Given the description of an element on the screen output the (x, y) to click on. 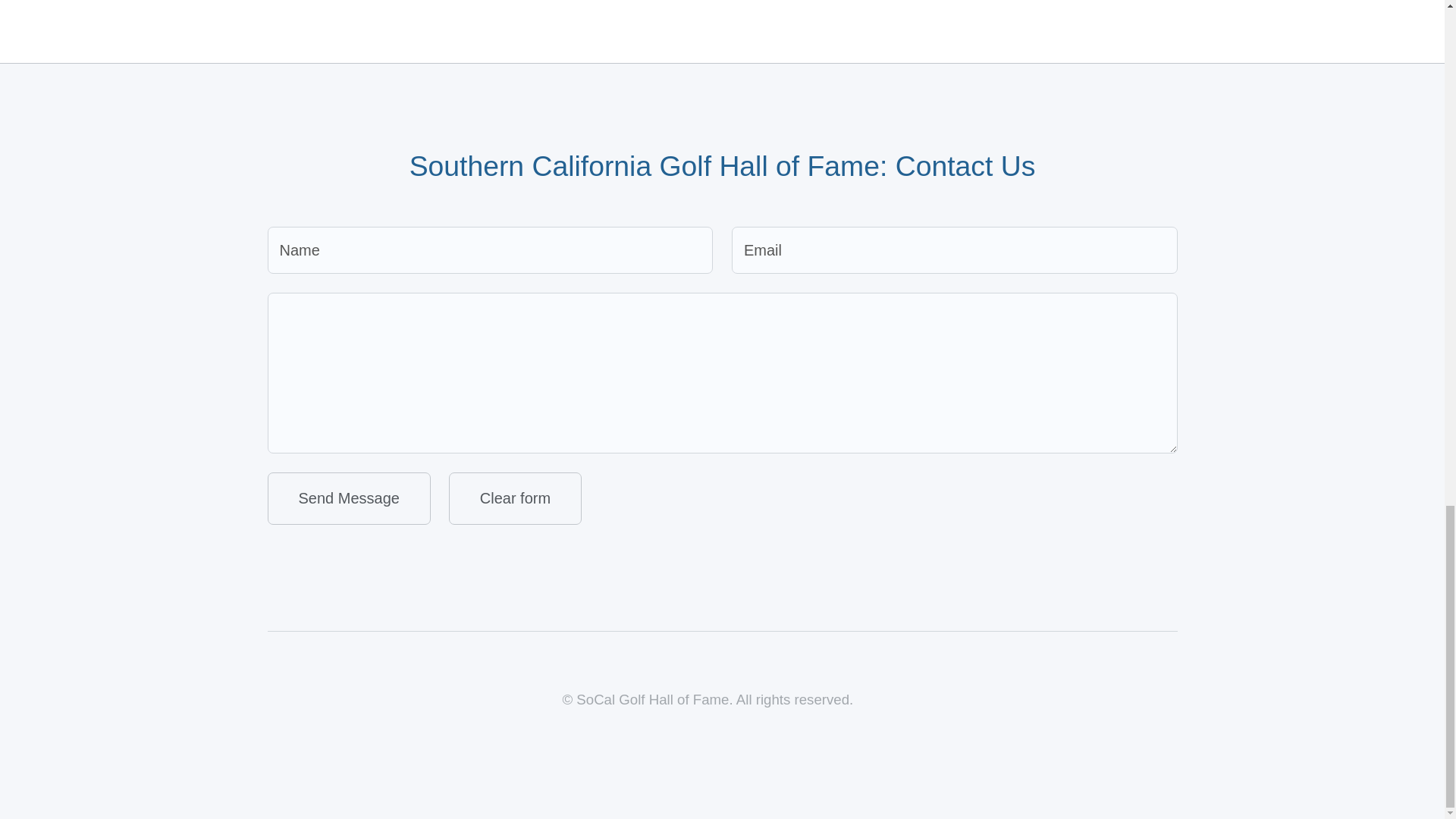
Send Message (347, 498)
Send Message (347, 498)
Clear form (514, 498)
